Given the description of an element on the screen output the (x, y) to click on. 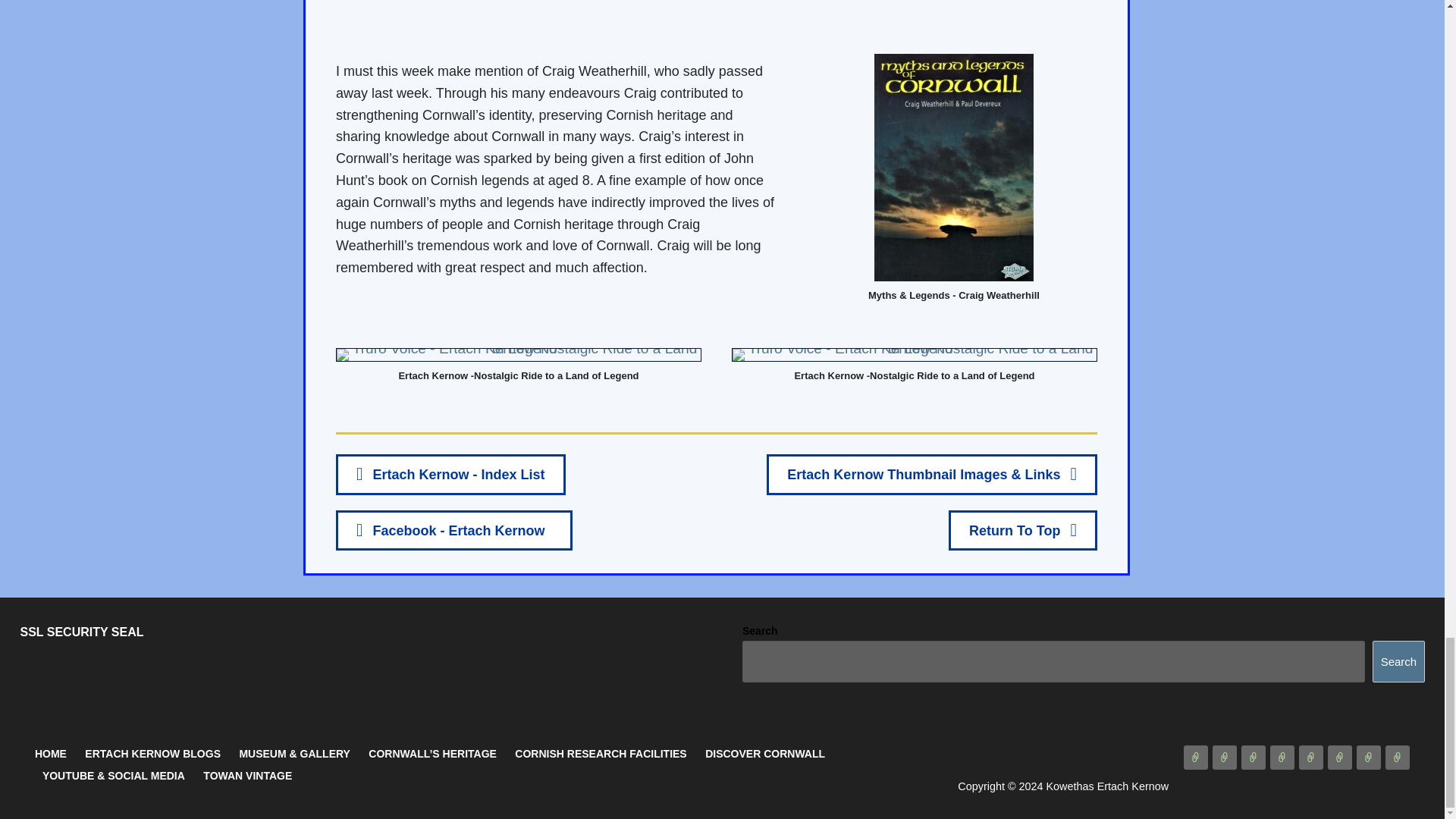
Truro Voice - ErtachKernow- 290720A (518, 354)
